Given the description of an element on the screen output the (x, y) to click on. 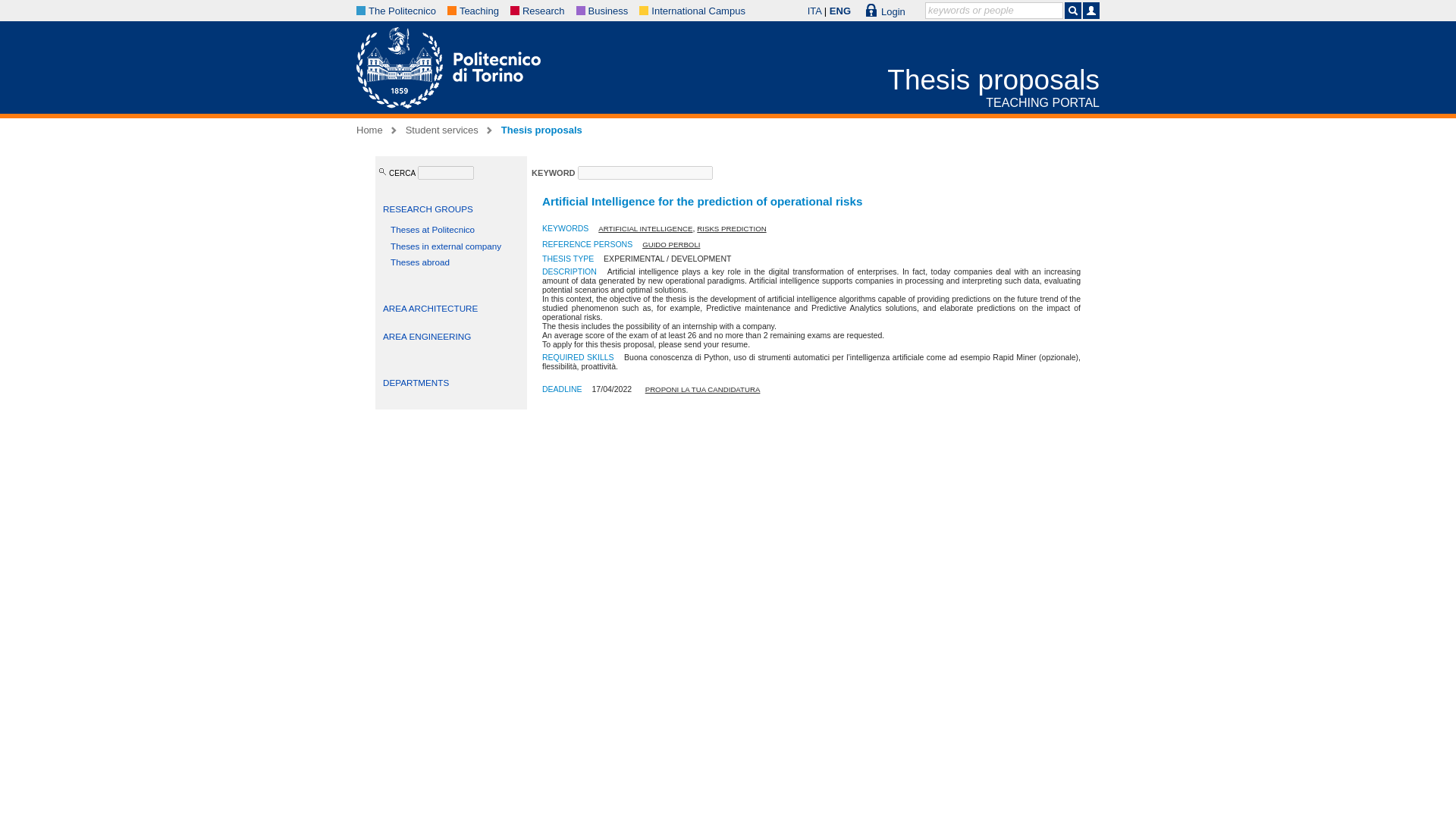
AREA ARCHITECTURE (429, 307)
DEPARTMENTS (415, 382)
Theses in external company (445, 245)
International Campus (697, 10)
ITA (815, 10)
RESEARCH GROUPS (427, 208)
AREA ENGINEERING (426, 336)
GUIDO PERBOLI (671, 244)
Search in Address Book (1091, 10)
Search topic (1072, 10)
Login (885, 11)
RISKS PREDICTION (731, 228)
Research (543, 10)
PROPONI LA TUA CANDIDATURA (702, 388)
ARTIFICIAL INTELLIGENCE (645, 228)
